Given the description of an element on the screen output the (x, y) to click on. 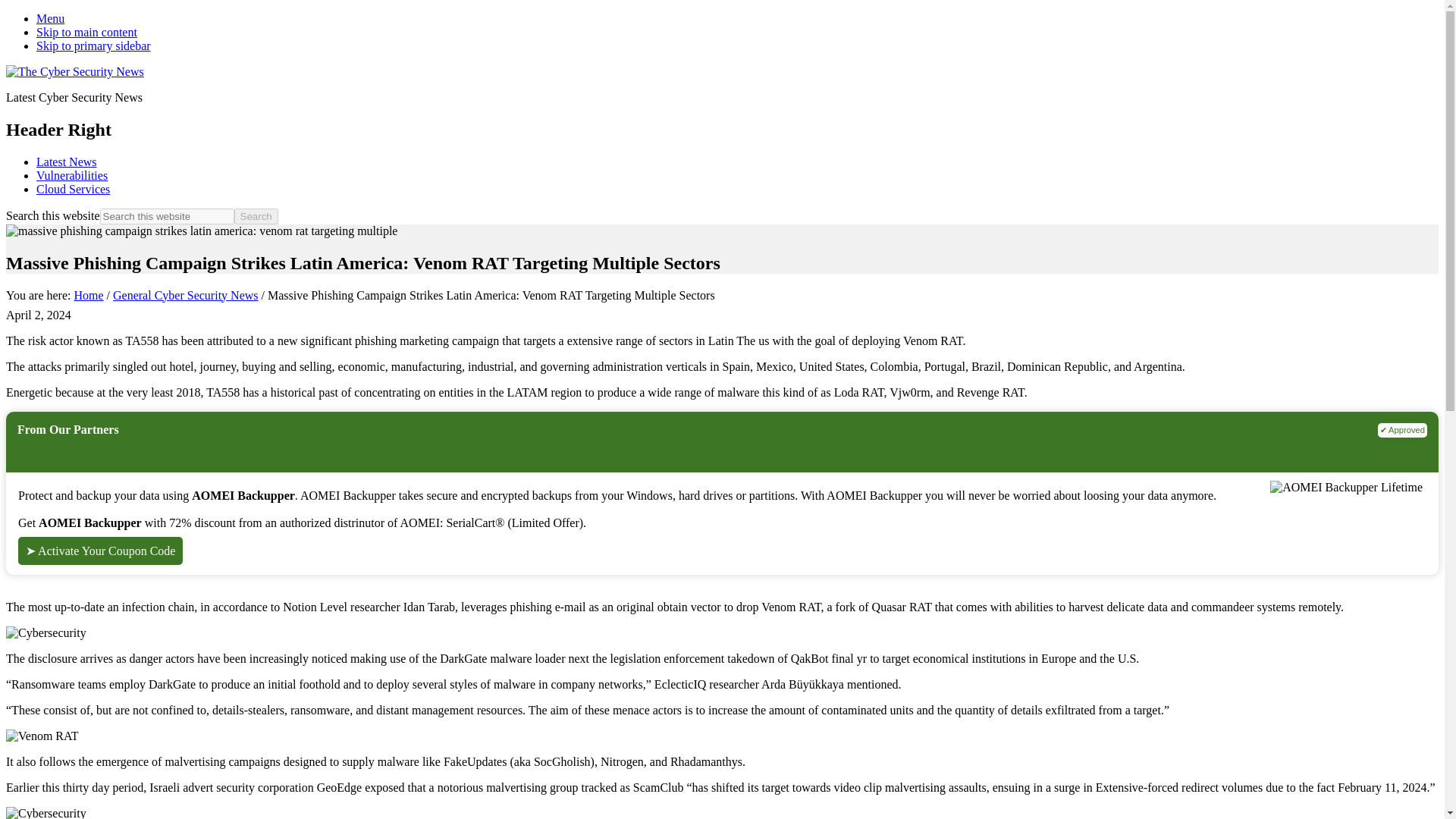
Menu (50, 18)
Latest News (66, 161)
Search (256, 216)
Vulnerabilities (71, 174)
Search (256, 216)
Skip to primary sidebar (93, 45)
Search (256, 216)
General Cyber Security News (186, 295)
Venom RAT (41, 735)
Cloud Services (73, 188)
Skip to main content (86, 31)
Home (88, 295)
